Given the description of an element on the screen output the (x, y) to click on. 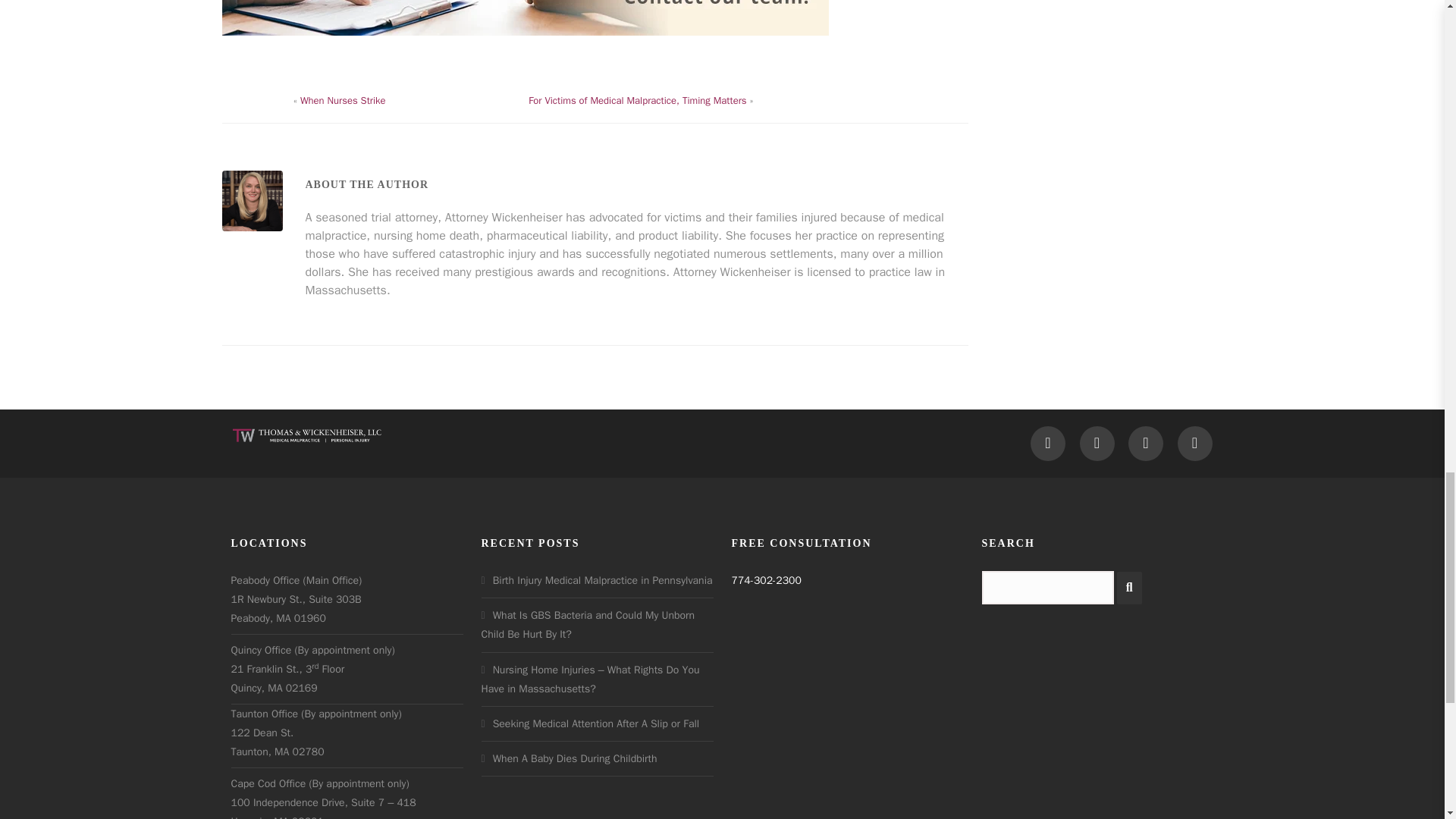
Search for: (1047, 587)
